Given the description of an element on the screen output the (x, y) to click on. 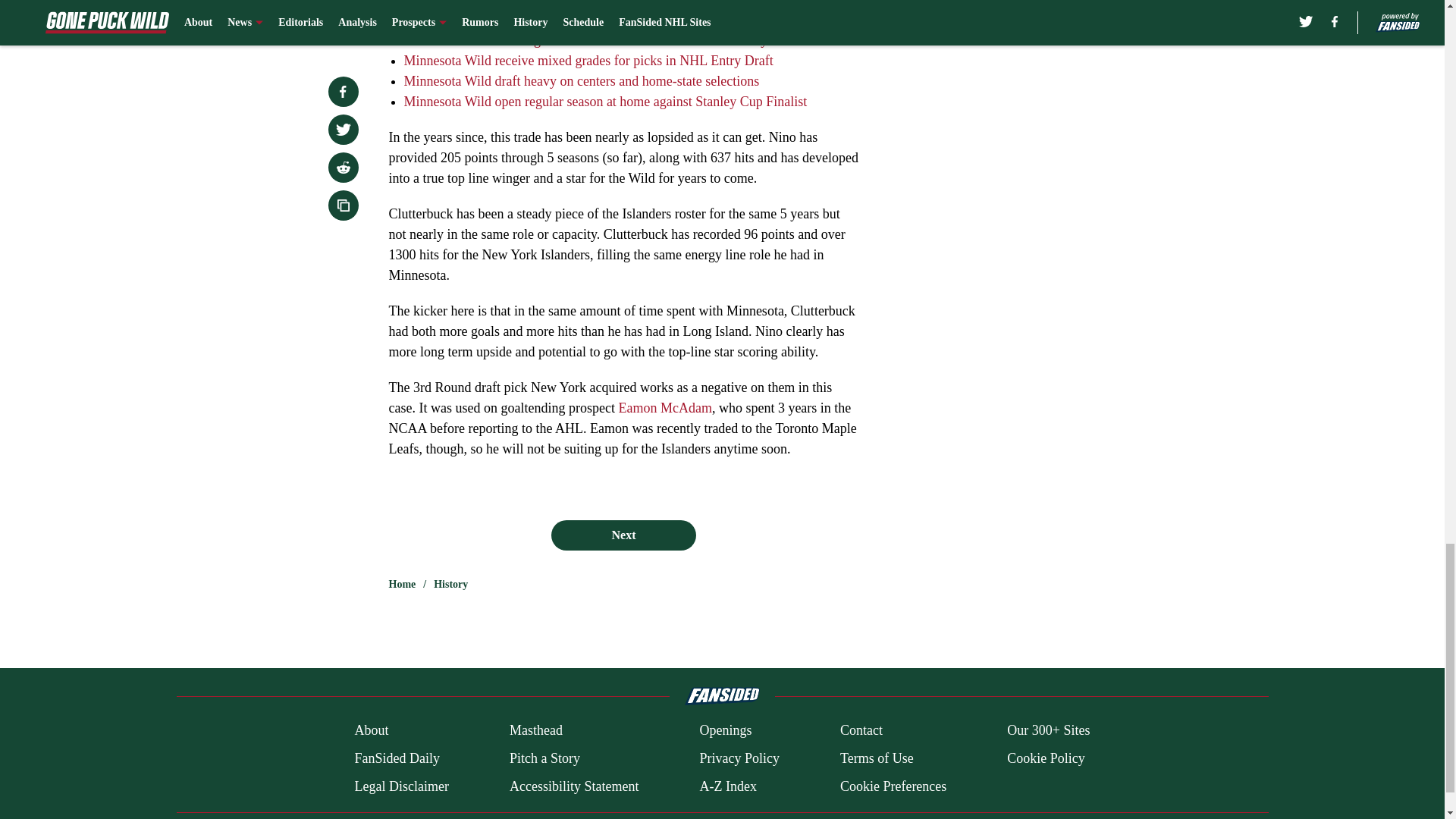
Eamon McAdam (664, 407)
History (450, 584)
Defenseman Matt Dumba signs one-year contract with Arizona (575, 19)
Next (622, 535)
Home (401, 584)
About (370, 730)
Masthead (535, 730)
